Given the description of an element on the screen output the (x, y) to click on. 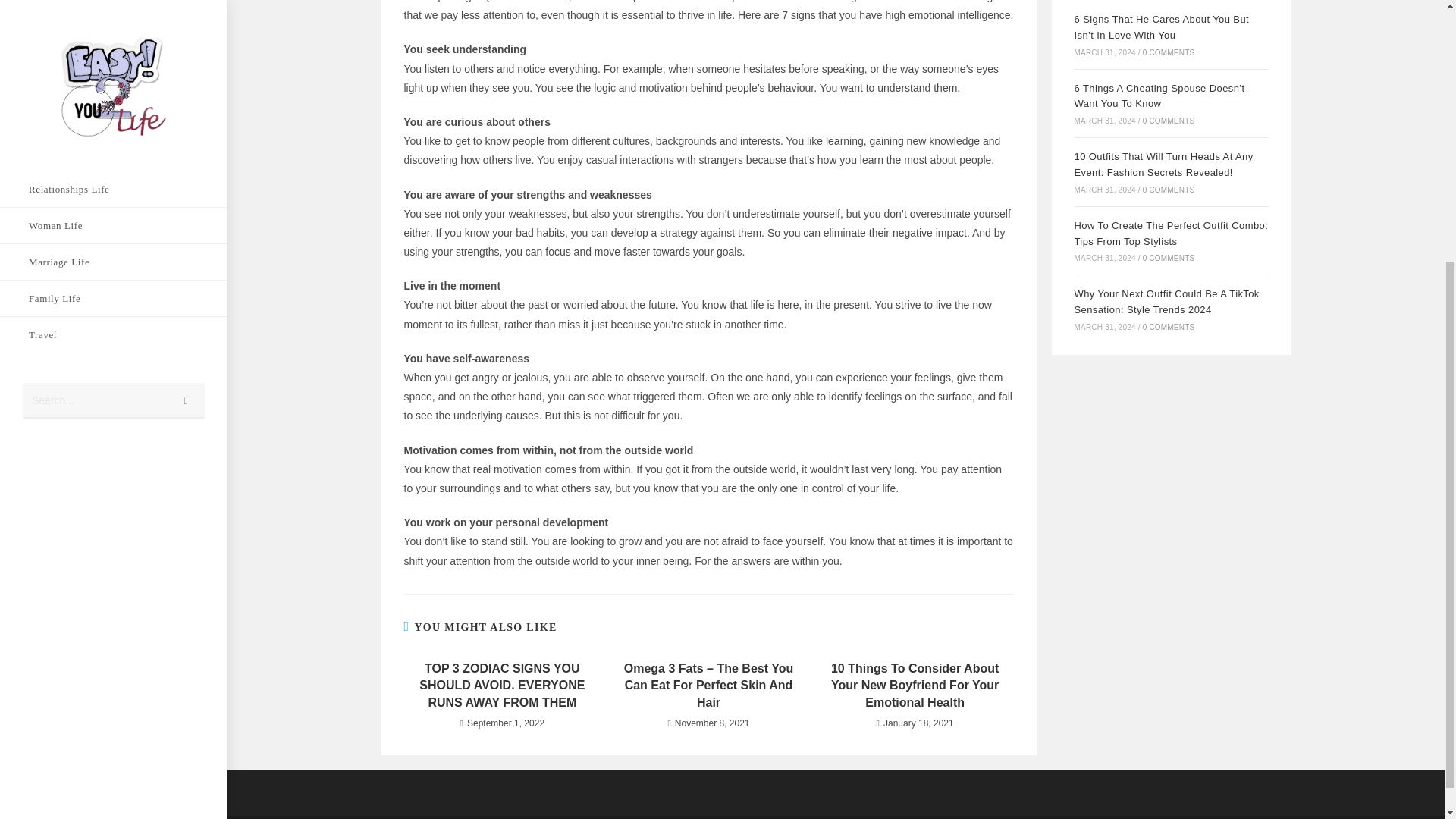
0 COMMENTS (1168, 121)
0 COMMENTS (1168, 326)
0 COMMENTS (1168, 257)
0 COMMENTS (1168, 52)
Submit search (186, 14)
0 COMMENTS (1168, 189)
